Given the description of an element on the screen output the (x, y) to click on. 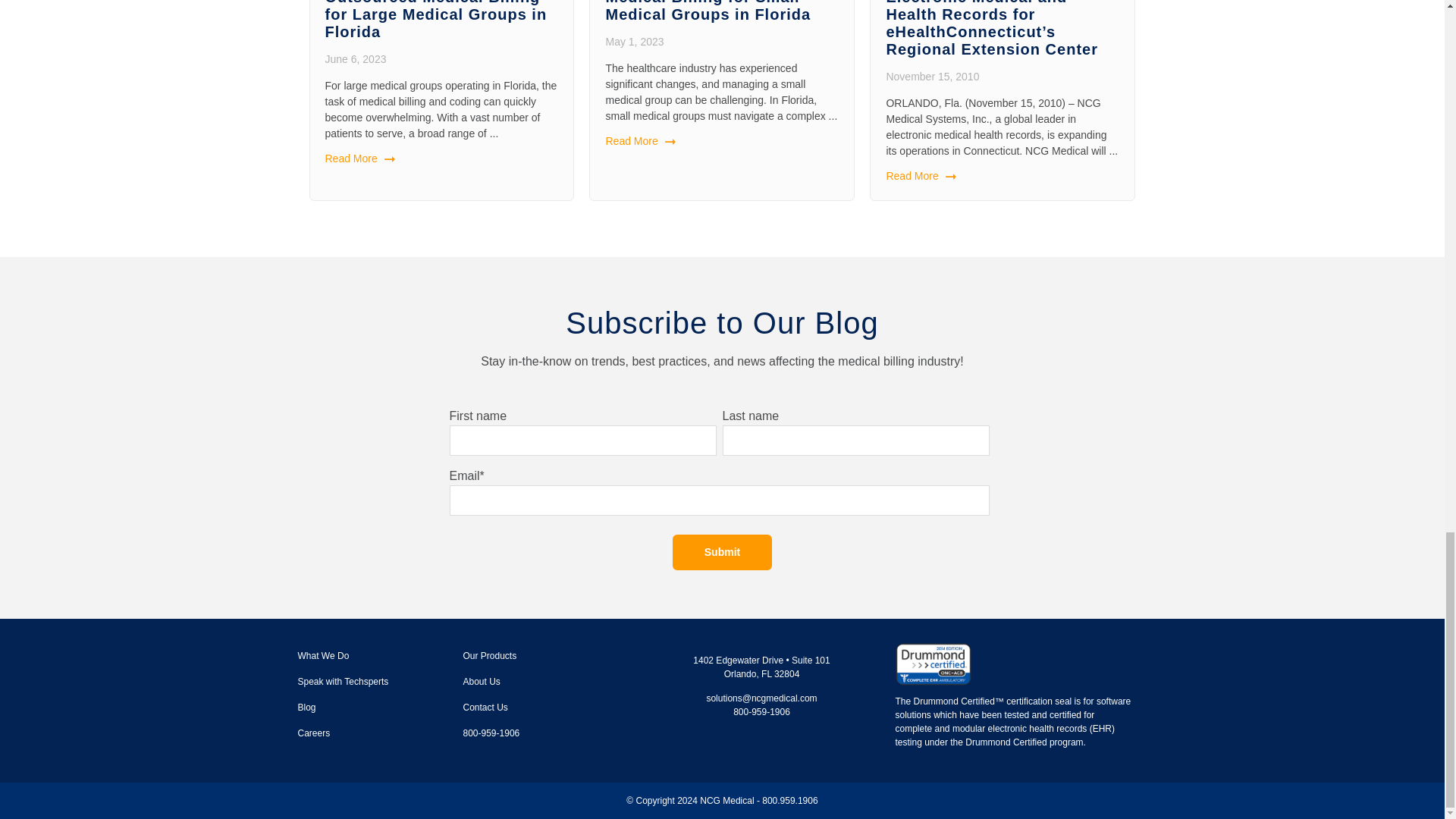
About Us (481, 681)
Submit (721, 552)
What We Do (323, 655)
Our Products (489, 655)
Blog (306, 706)
800-959-1906 (491, 733)
Submit (721, 552)
Careers (313, 733)
Contact Us (484, 706)
Speak with Techsperts (342, 681)
800-959-1906 (491, 733)
